Given the description of an element on the screen output the (x, y) to click on. 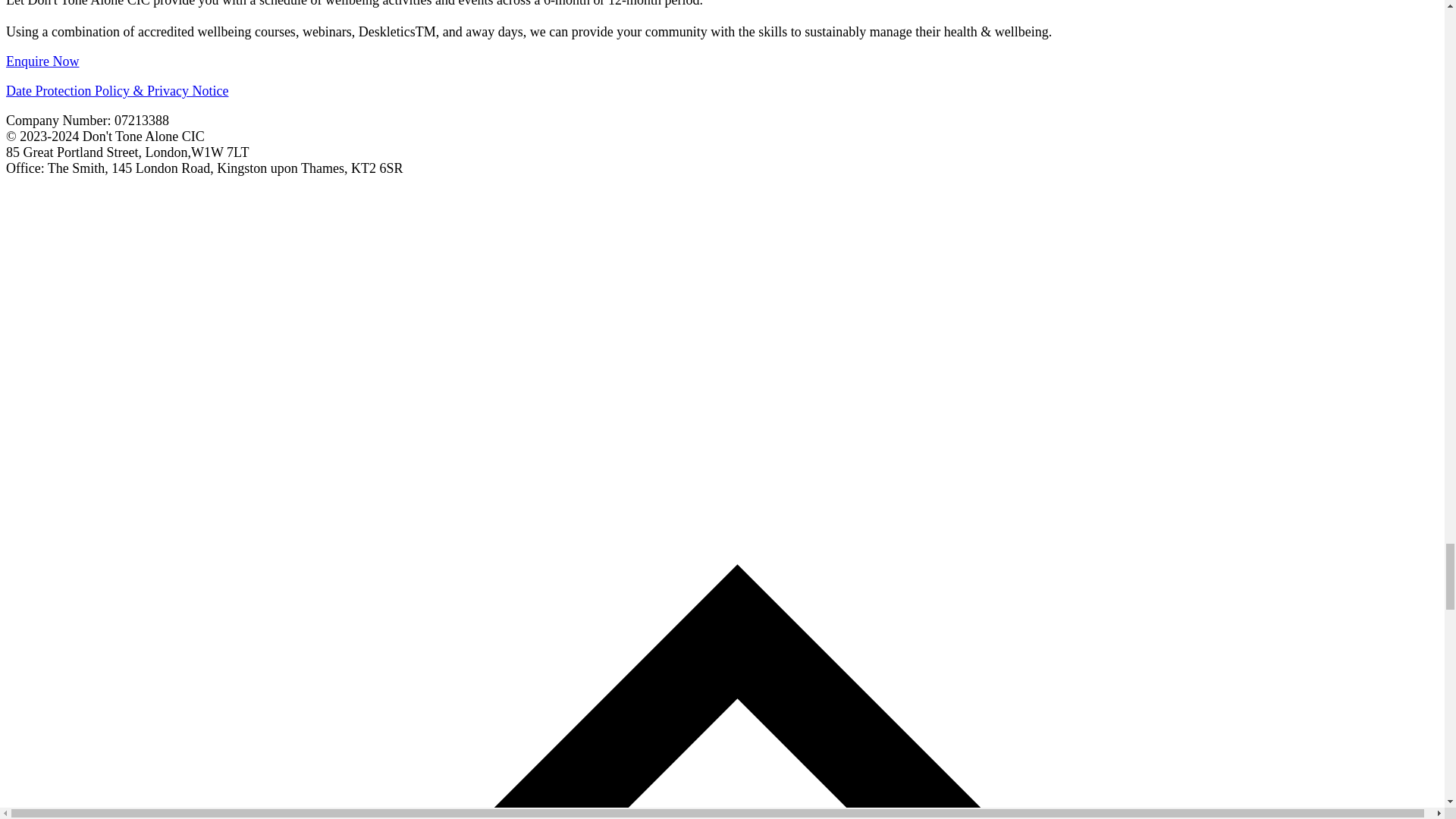
Enquire Now (41, 61)
